Given the description of an element on the screen output the (x, y) to click on. 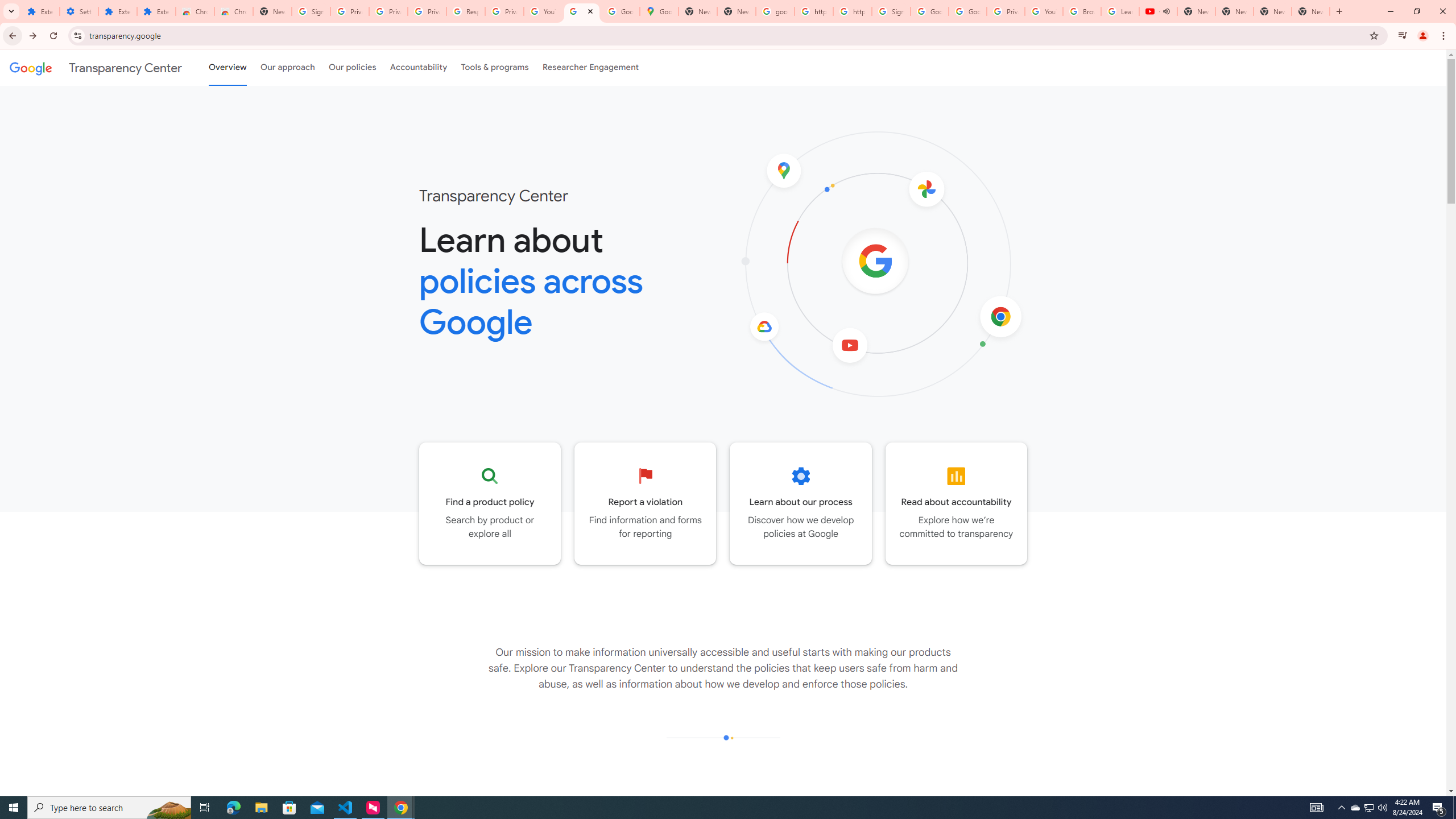
YouTube (1043, 11)
Researcher Engagement (590, 67)
New Tab (1311, 11)
Extensions (156, 11)
Sign in - Google Accounts (310, 11)
Go to the Our process page (800, 503)
Our approach (287, 67)
